Given the description of an element on the screen output the (x, y) to click on. 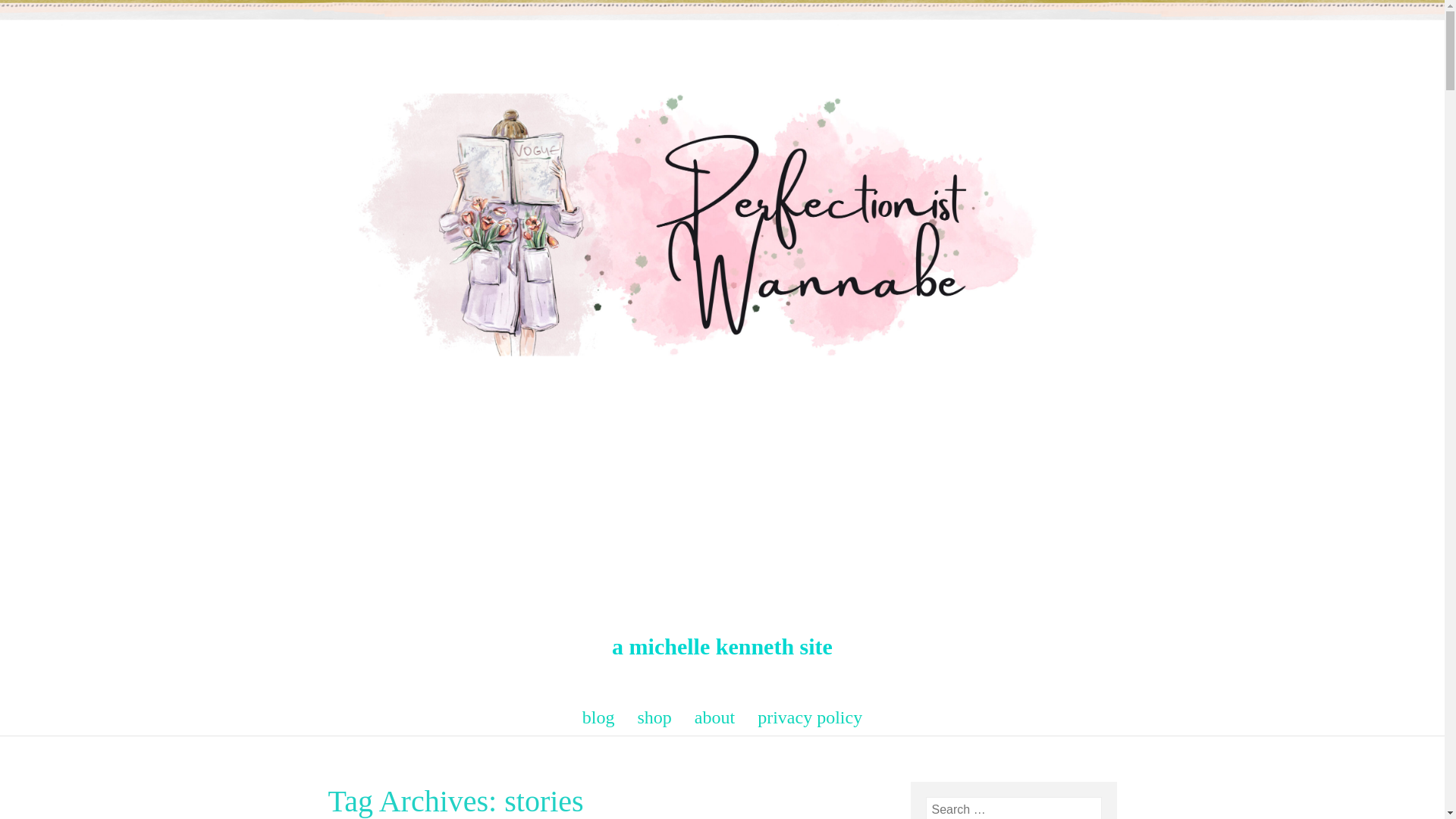
about (714, 717)
Search (29, 14)
blog (598, 717)
shop (654, 717)
skip to content (313, 707)
privacy policy (809, 717)
